Given the description of an element on the screen output the (x, y) to click on. 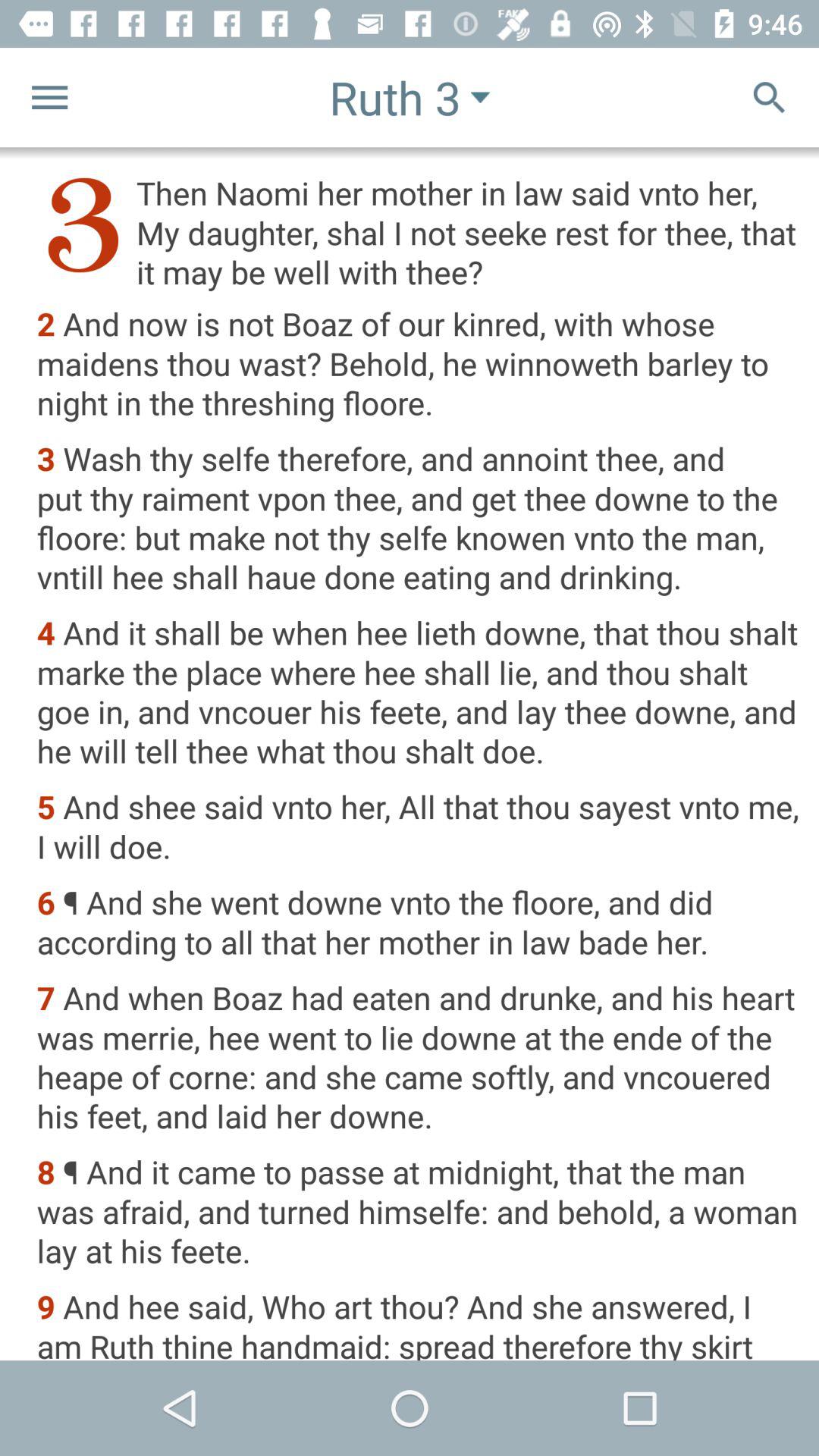
open the 5 and shee icon (417, 827)
